Given the description of an element on the screen output the (x, y) to click on. 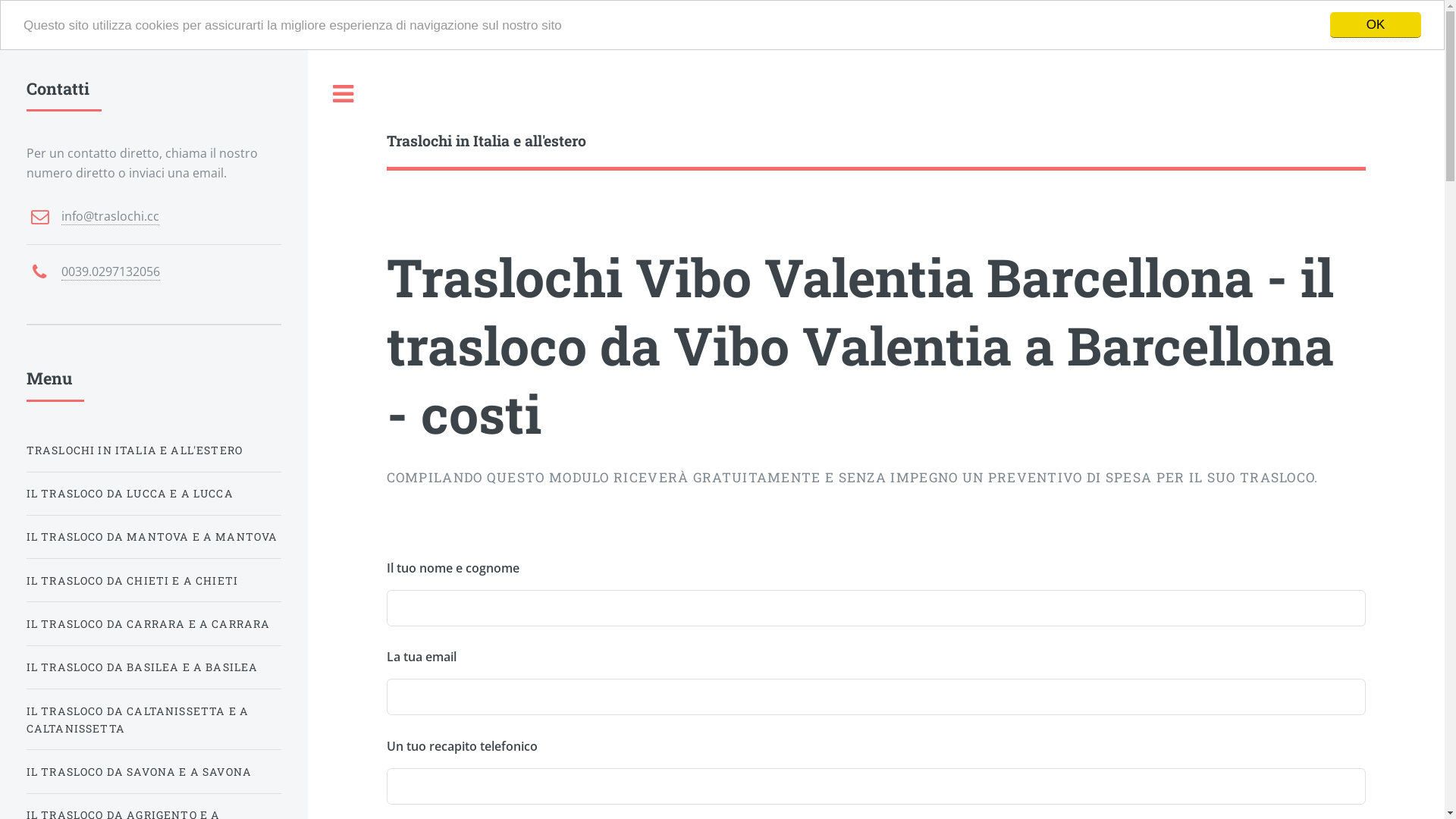
OK Element type: text (1375, 24)
IL TRASLOCO DA CARRARA E A CARRARA Element type: text (153, 623)
IL TRASLOCO DA CALTANISSETTA E A CALTANISSETTA Element type: text (153, 719)
Toggle Element type: text (343, 94)
Traslochi in Italia e all'estero Element type: text (631, 140)
IL TRASLOCO DA CHIETI E A CHIETI Element type: text (153, 580)
IL TRASLOCO DA SAVONA E A SAVONA Element type: text (153, 771)
IL TRASLOCO DA MANTOVA E A MANTOVA Element type: text (153, 536)
IL TRASLOCO DA BASILEA E A BASILEA Element type: text (153, 666)
0039.0297132056 Element type: text (110, 271)
IL TRASLOCO DA LUCCA E A LUCCA Element type: text (153, 492)
info@traslochi.cc Element type: text (110, 216)
TRASLOCHI IN ITALIA E ALL'ESTERO Element type: text (153, 449)
